Given the description of an element on the screen output the (x, y) to click on. 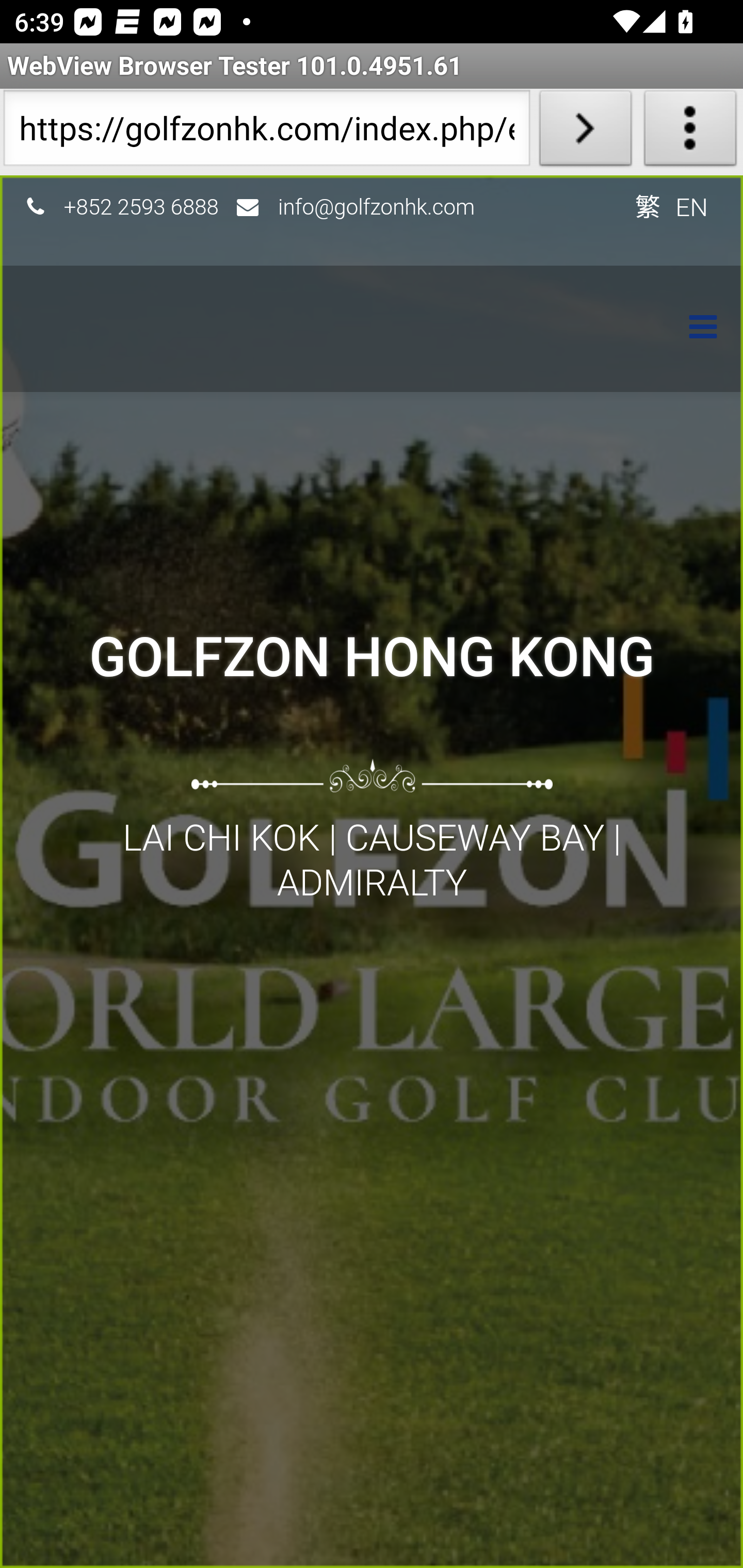
Load URL (585, 132)
About WebView (690, 132)
info@golfzonhk.com (377, 205)
繁 (647, 205)
EN (692, 205)
 (693, 328)
